Given the description of an element on the screen output the (x, y) to click on. 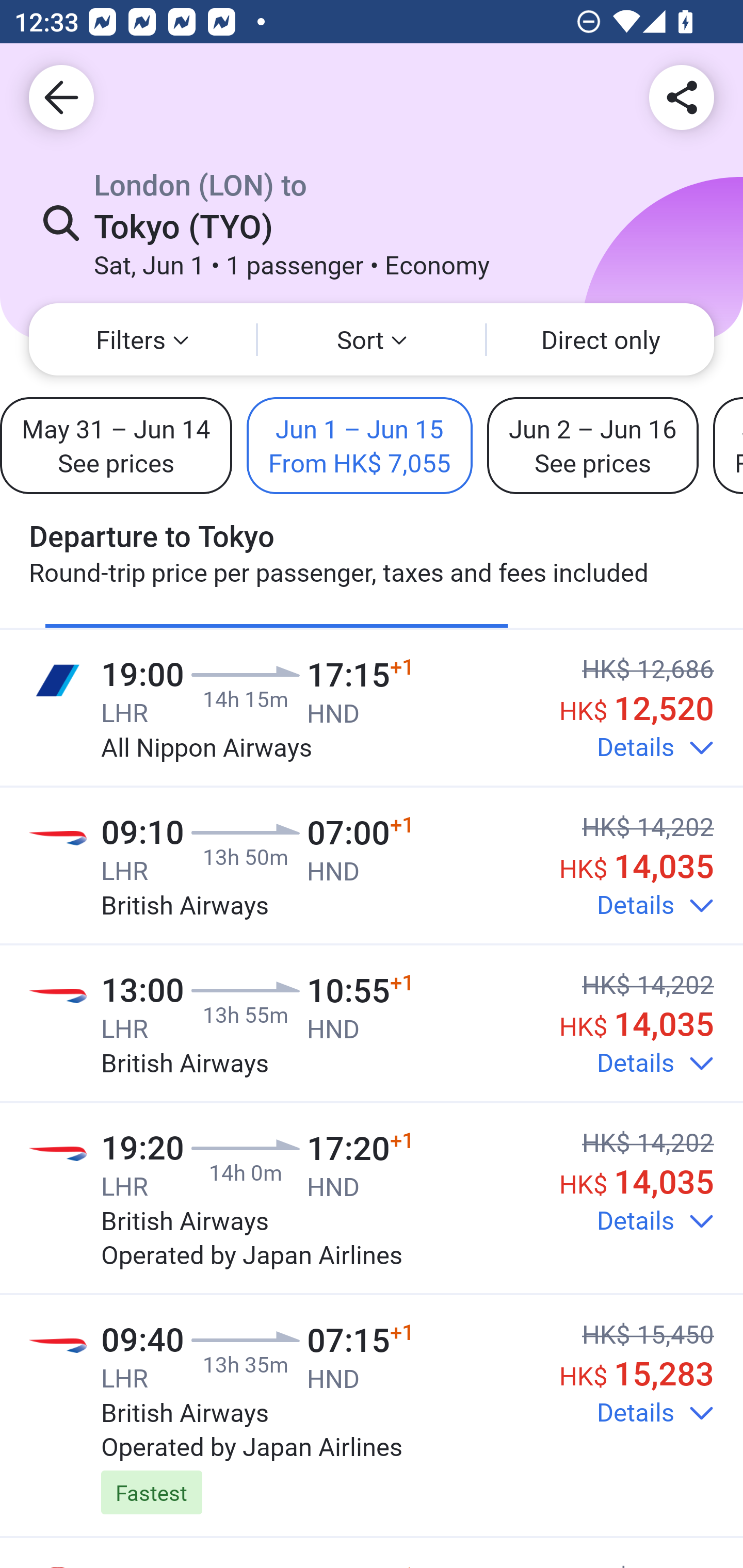
Filters (141, 339)
Sort (371, 339)
Direct only (600, 339)
May 31 – Jun 14 See prices (115, 444)
Jun 1 – Jun 15 From HK$ 7,055 (359, 444)
Jun 2 – Jun 16 See prices (592, 444)
